Given the description of an element on the screen output the (x, y) to click on. 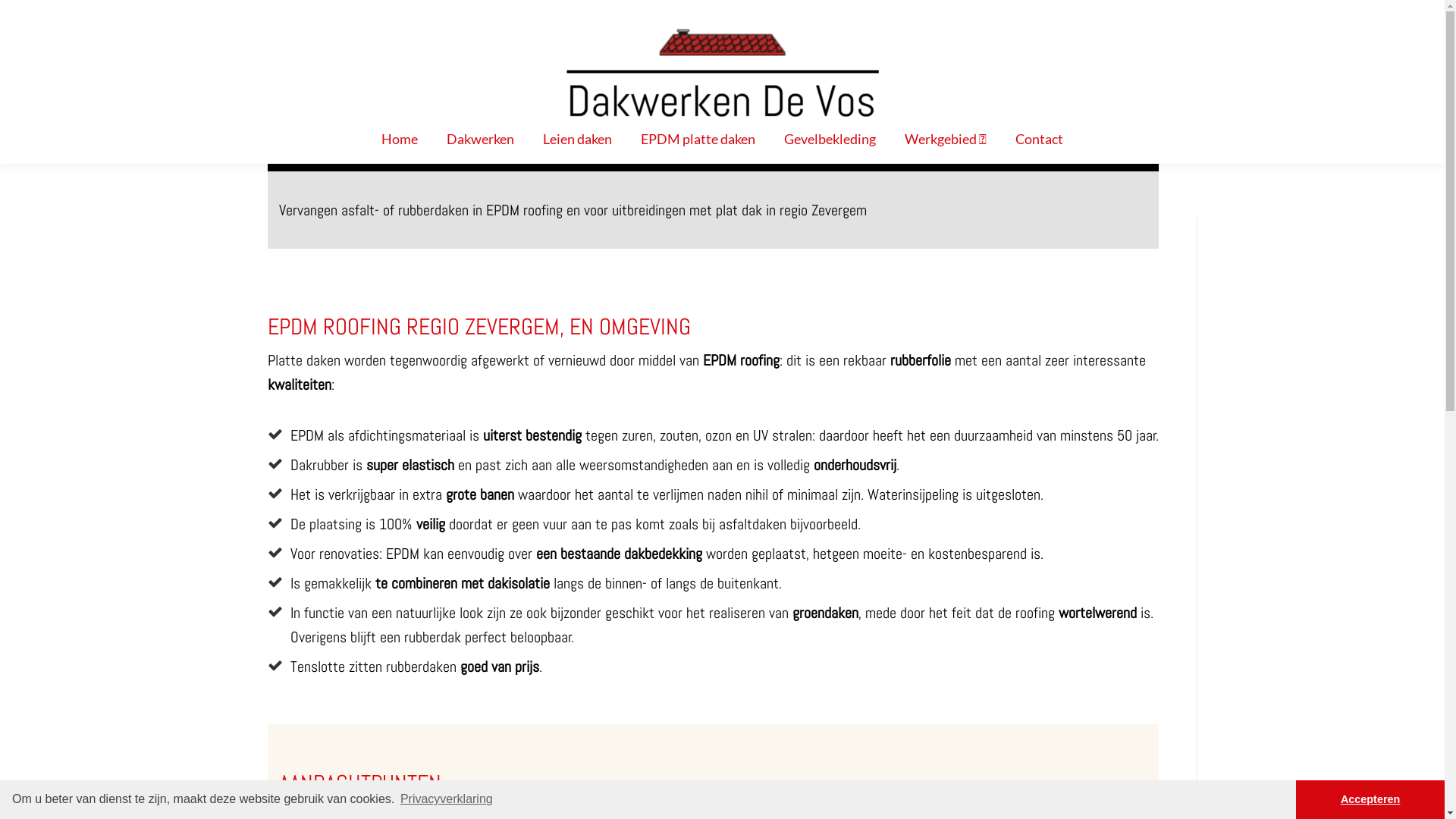
Home Element type: text (399, 138)
Leien daken Element type: text (577, 138)
Contact Element type: text (1038, 138)
Gevelbekleding Element type: text (829, 138)
EPDM platte daken Element type: text (698, 138)
Dakwerken Element type: text (479, 138)
Privacyverklaring Element type: text (446, 798)
